Given the description of an element on the screen output the (x, y) to click on. 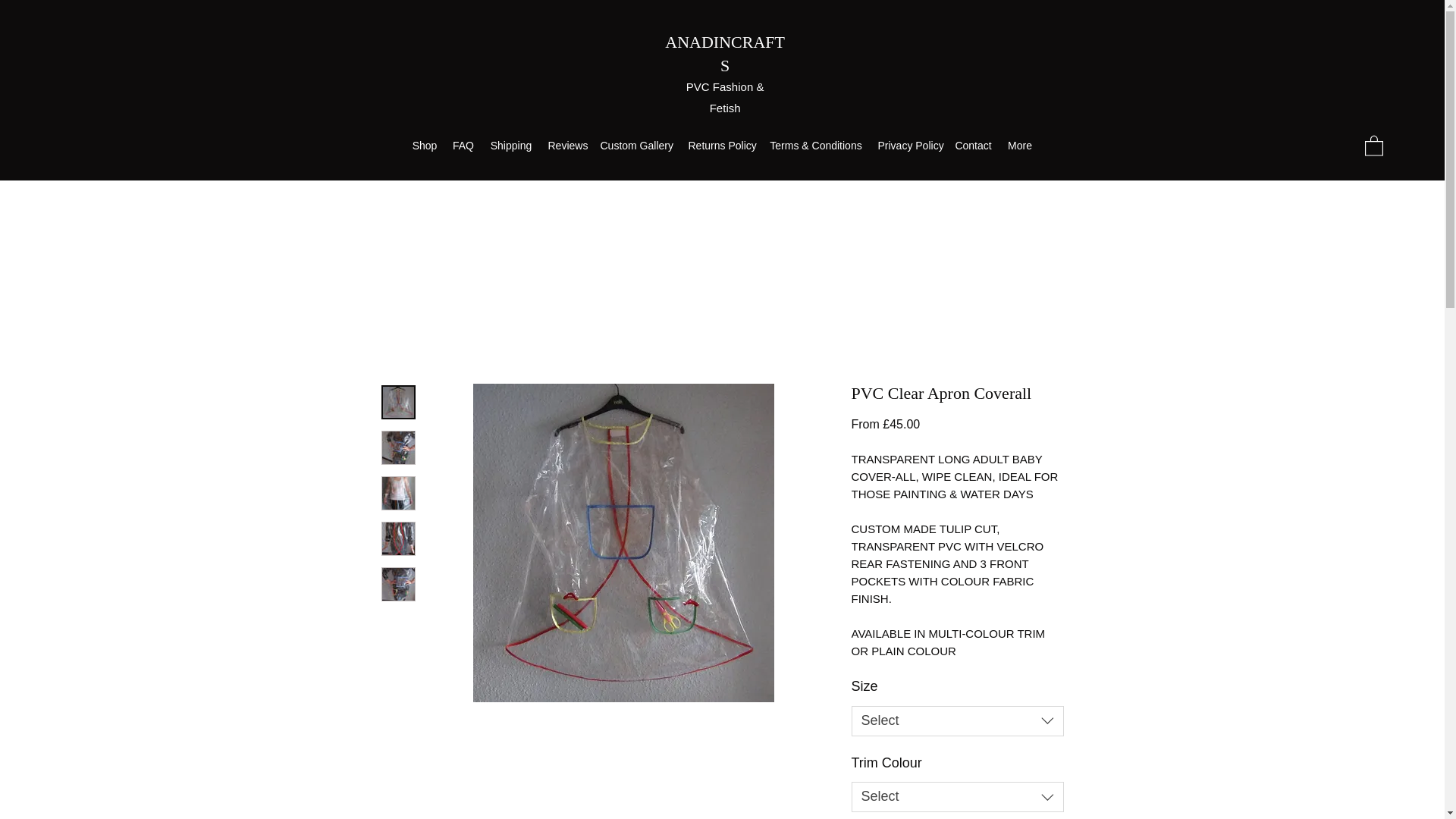
Shop (424, 145)
Reviews (566, 145)
Shipping (510, 145)
ANADINCRAFTS (724, 53)
Select (956, 720)
Select (956, 797)
FAQ (462, 145)
Returns Policy (721, 145)
Custom Gallery (636, 145)
Privacy Policy (908, 145)
Contact (972, 145)
